Given the description of an element on the screen output the (x, y) to click on. 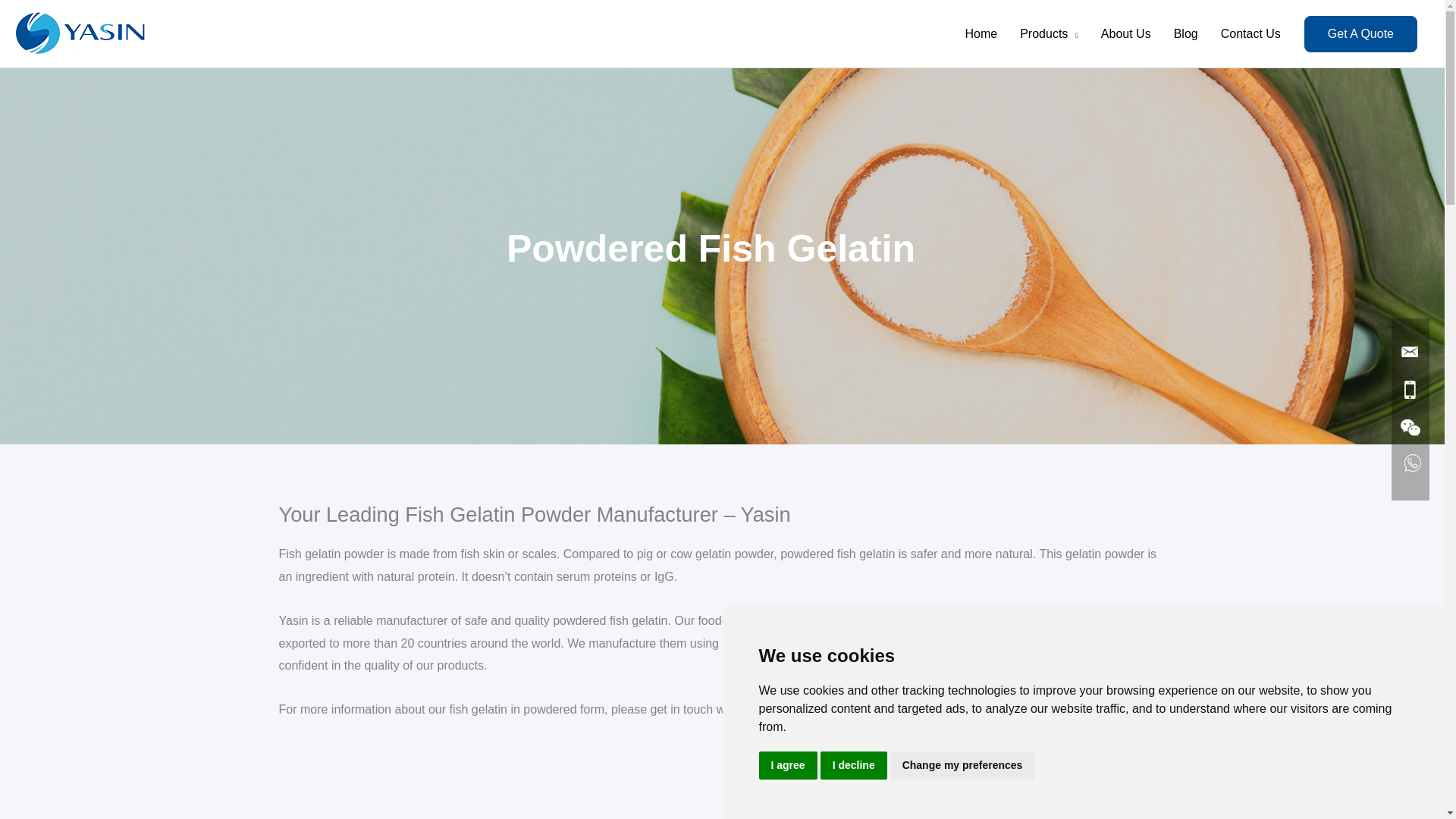
I agree (787, 765)
Change my preferences (962, 765)
Products (1049, 33)
About Us (1125, 33)
Contact Us (1250, 33)
Blog (1185, 33)
I decline (853, 765)
Home (981, 33)
